Given the description of an element on the screen output the (x, y) to click on. 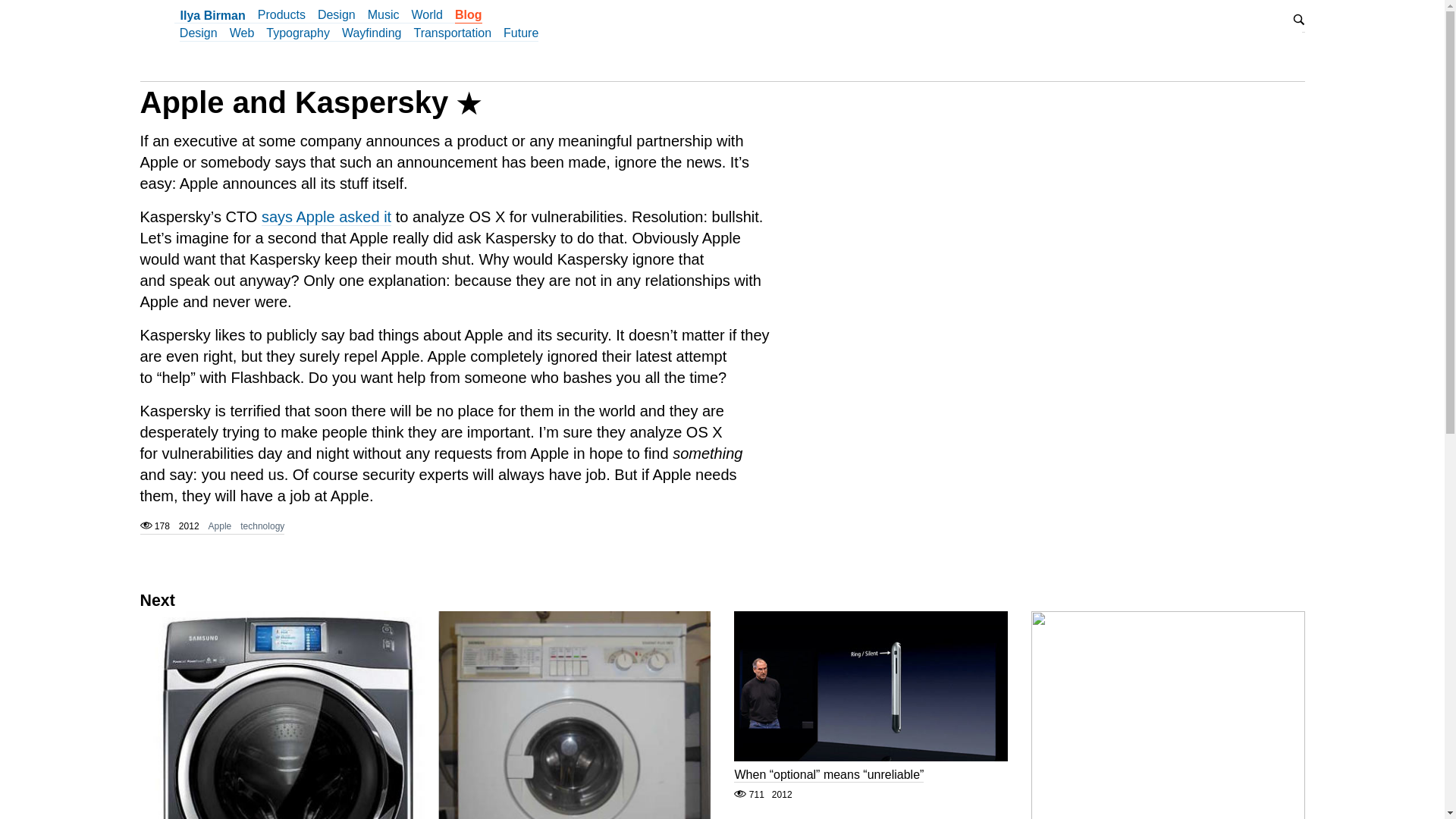
Wayfinding (365, 34)
Apple (721, 526)
Transportation (219, 526)
Design (446, 34)
Ilya Birman (721, 526)
30 January 2012, 17:52 (197, 34)
Blog (191, 19)
Web (828, 772)
